Given the description of an element on the screen output the (x, y) to click on. 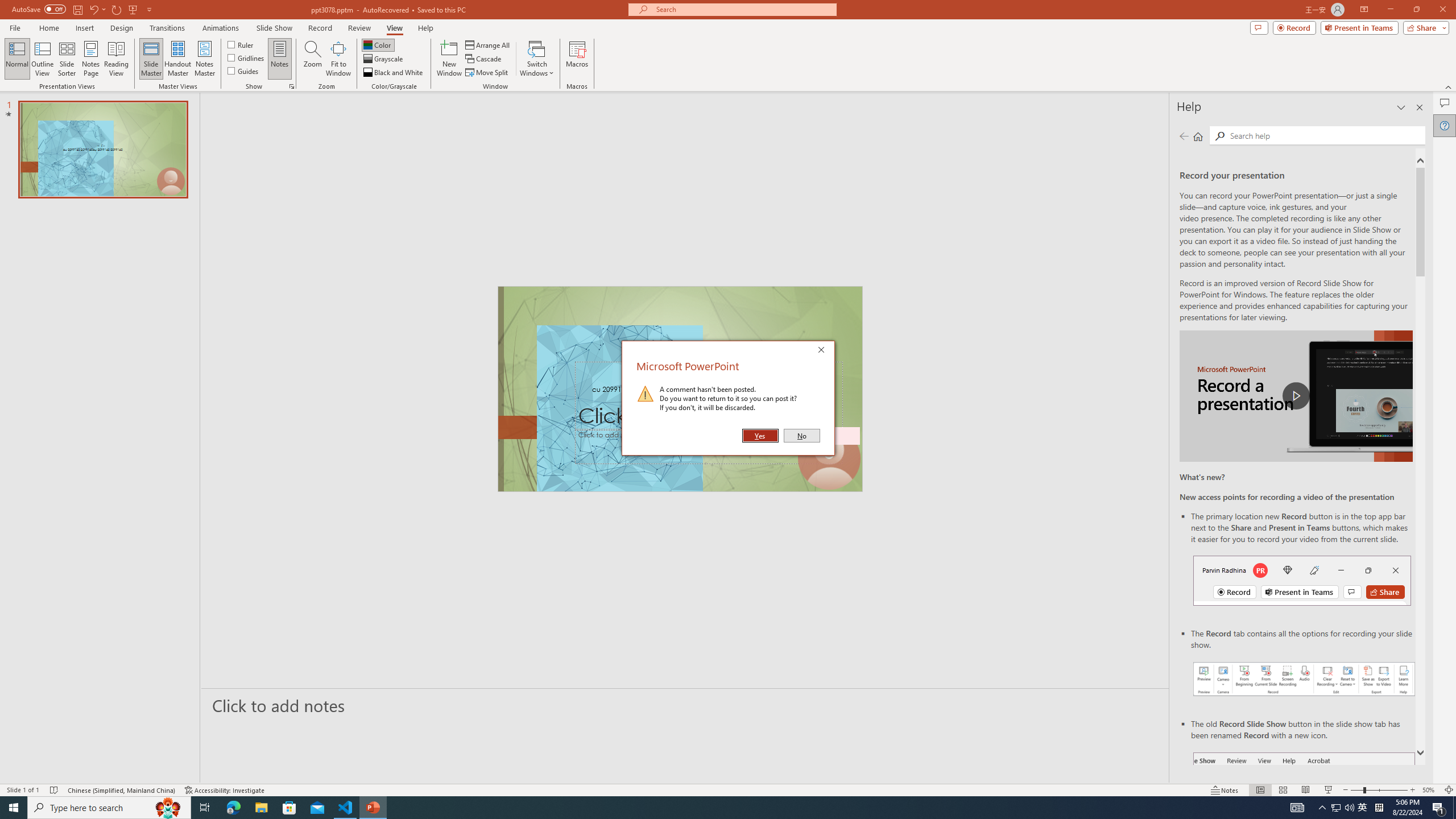
Yes (760, 435)
Slide Master (151, 58)
Record button in top bar (1301, 580)
